Given the description of an element on the screen output the (x, y) to click on. 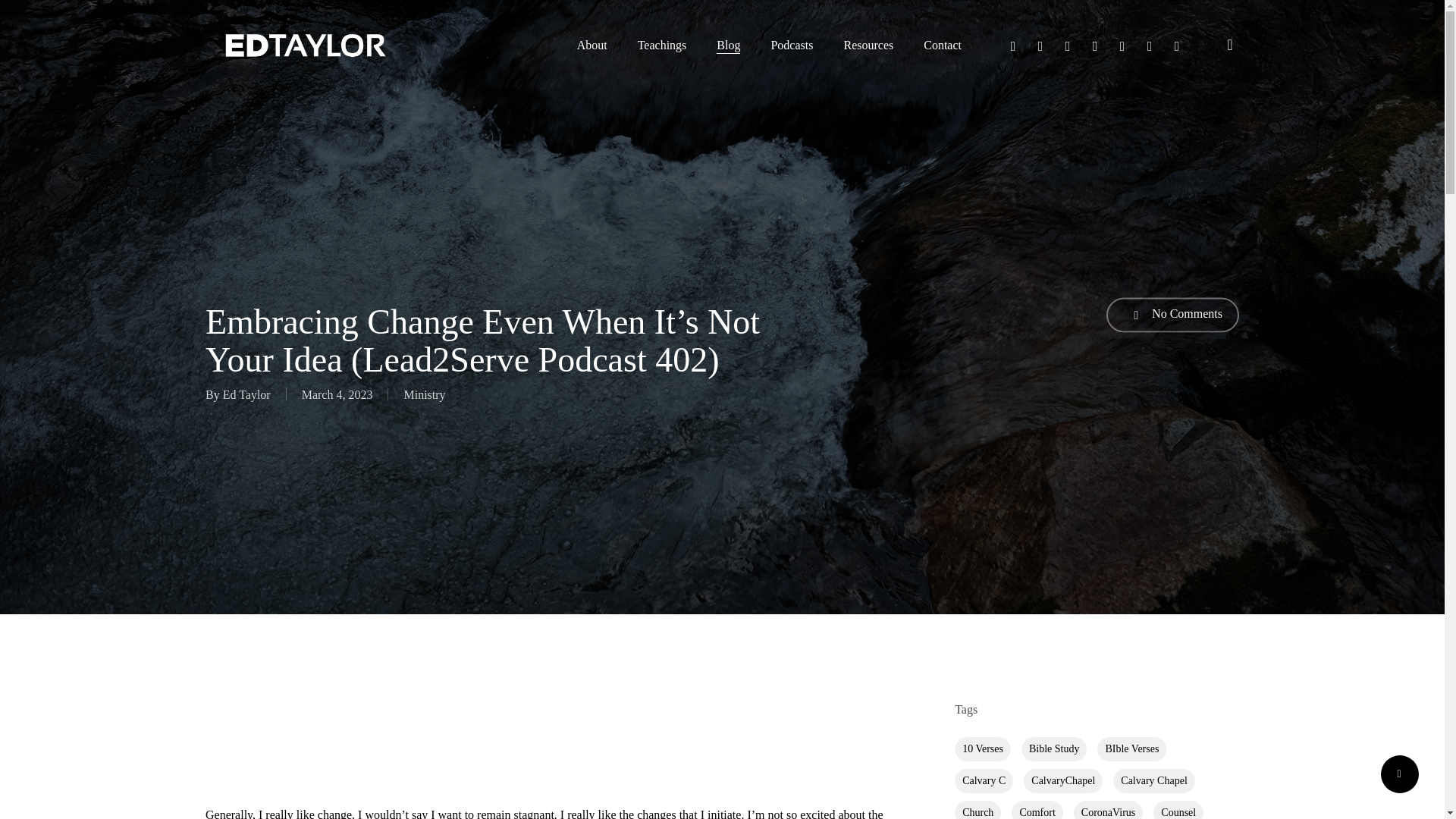
About (591, 45)
Podcasts (791, 45)
Blog (727, 45)
search (1230, 44)
Posts by Ed Taylor (246, 394)
x-twitter (1012, 45)
Contact (941, 45)
Resources (868, 45)
Teachings (662, 45)
Ministry (424, 394)
